Given the description of an element on the screen output the (x, y) to click on. 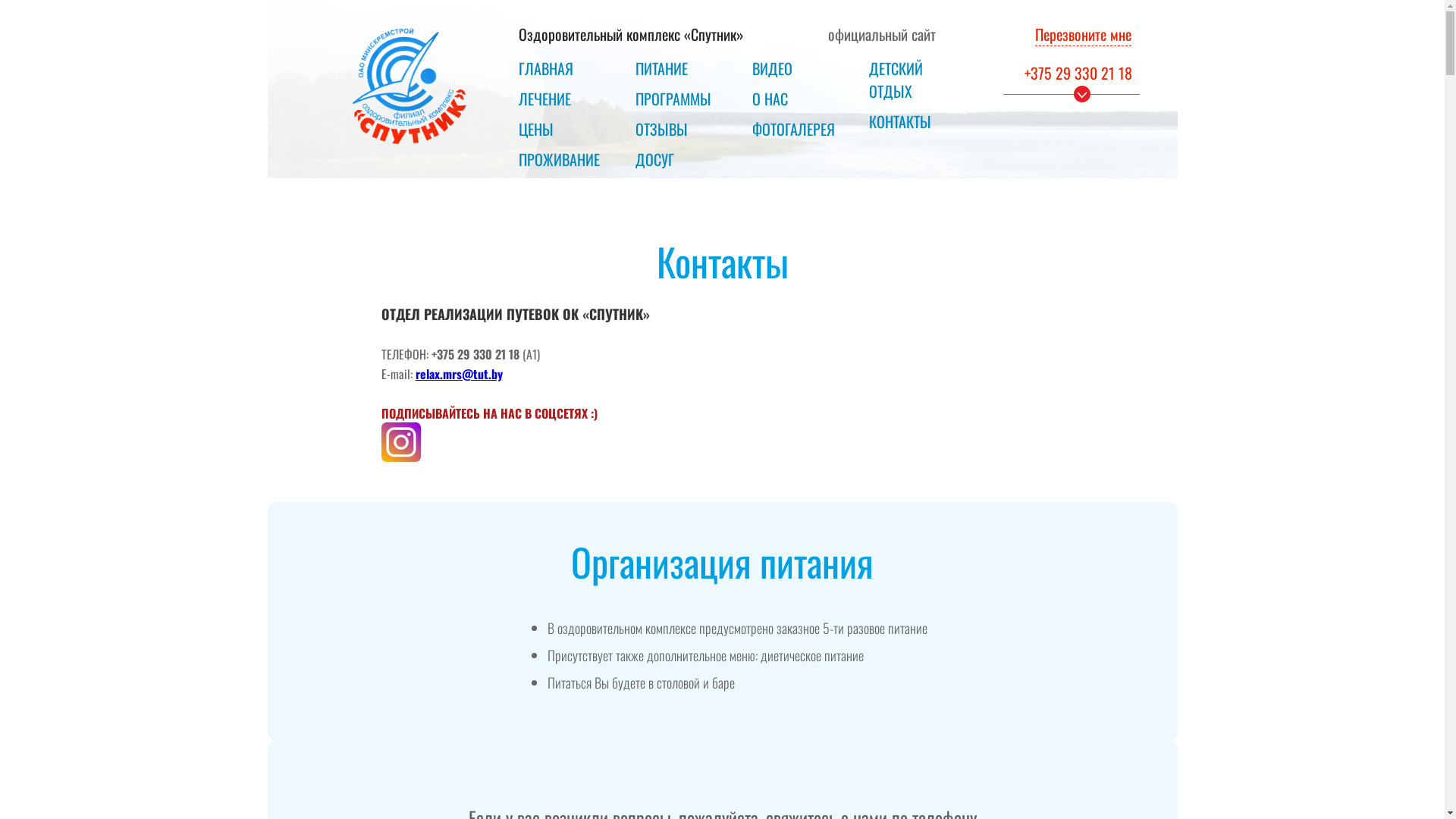
relax.mrs@tut.by Element type: text (458, 373)
